Given the description of an element on the screen output the (x, y) to click on. 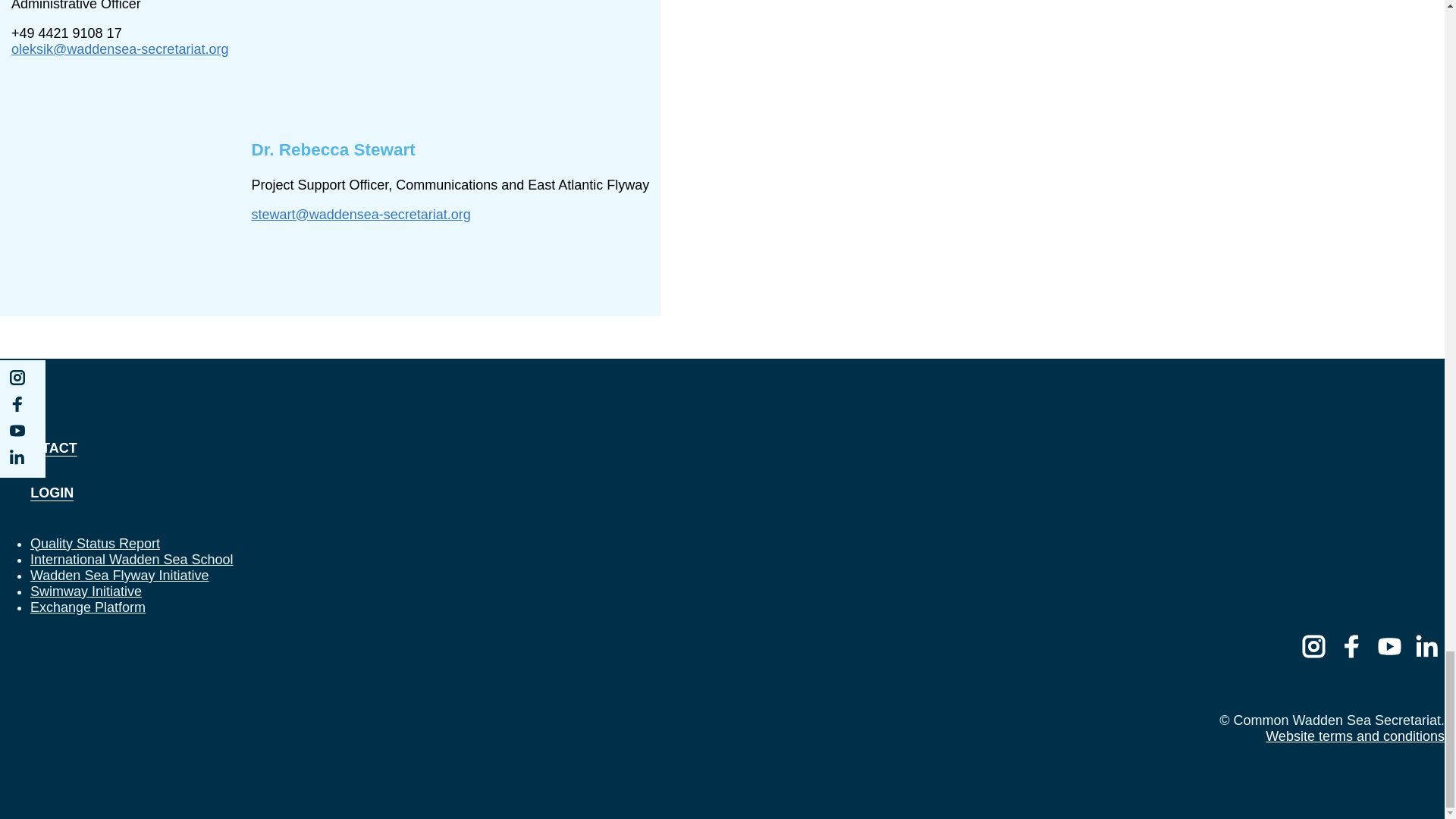
Link to the International Wadden Sea School website (131, 559)
Link to the Swimway Initiative website (85, 590)
Link to the online Wadden Sea Quality Status Report (95, 543)
Rebecca Stewart. Private. (450, 64)
Link to the Wadden Sea Flyway Initiative website (119, 575)
